Given the description of an element on the screen output the (x, y) to click on. 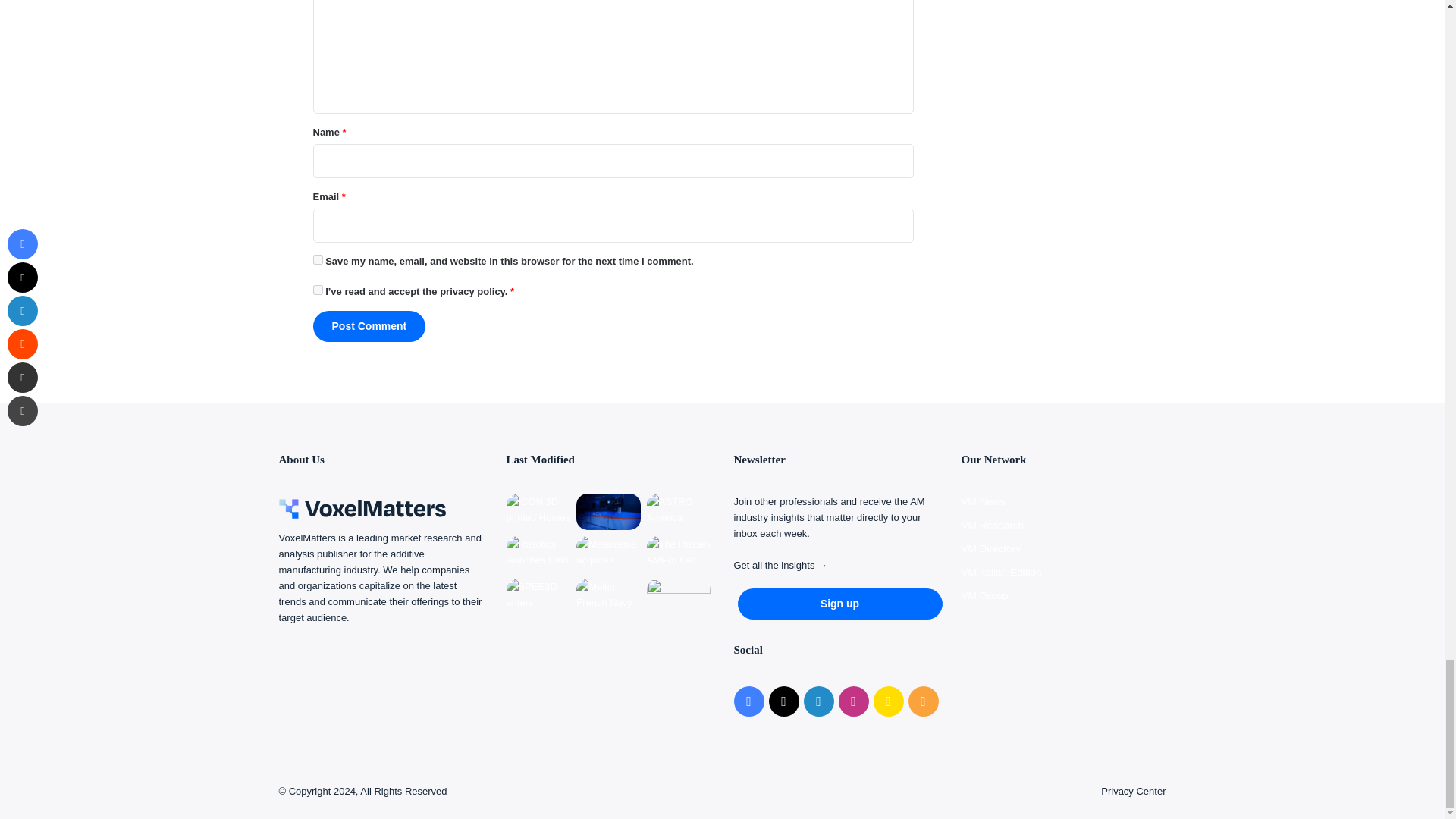
Post Comment (369, 326)
on (317, 289)
Sign up (839, 603)
yes (317, 259)
